Given the description of an element on the screen output the (x, y) to click on. 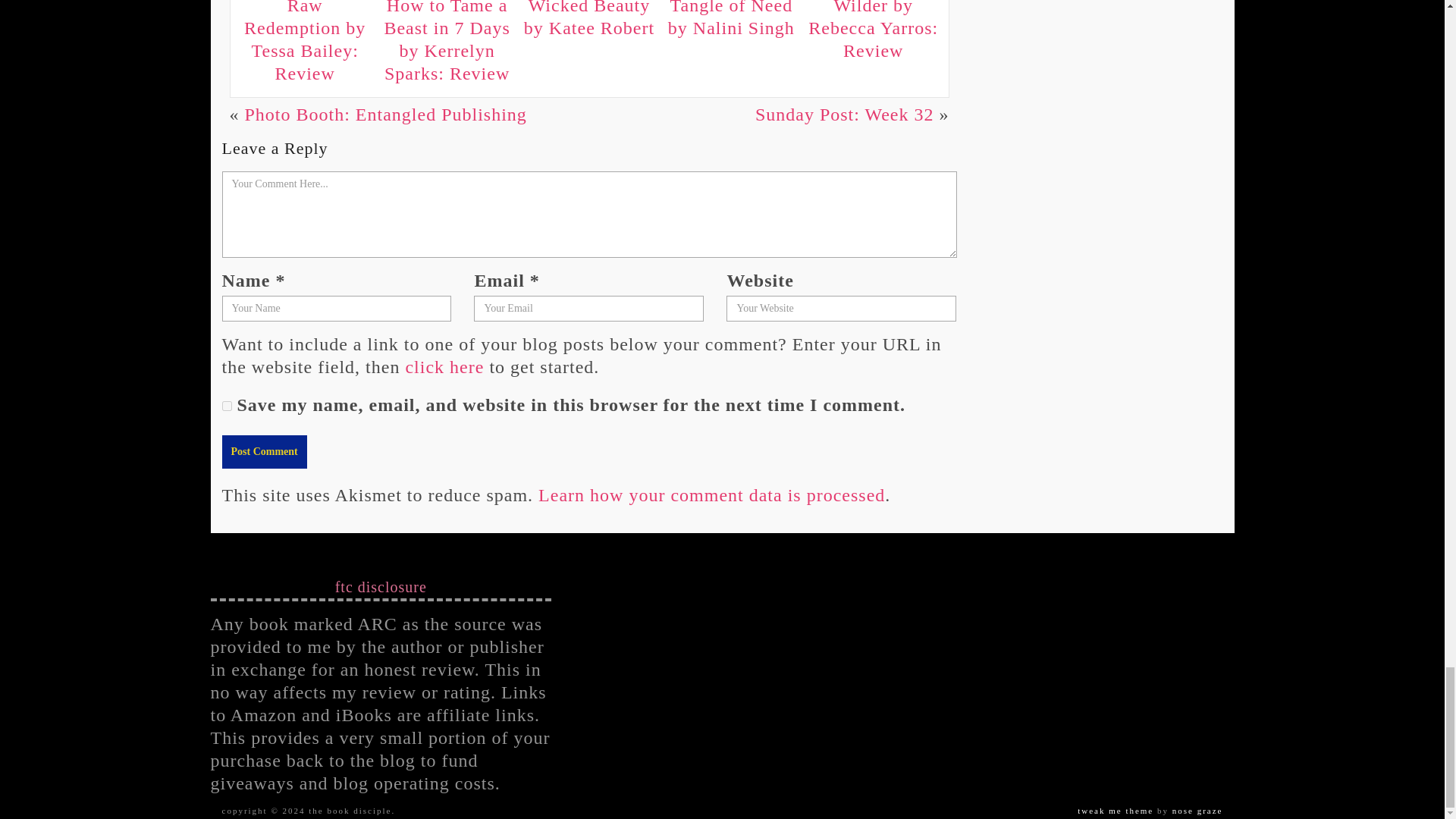
Post Comment (263, 451)
yes (226, 406)
